Given the description of an element on the screen output the (x, y) to click on. 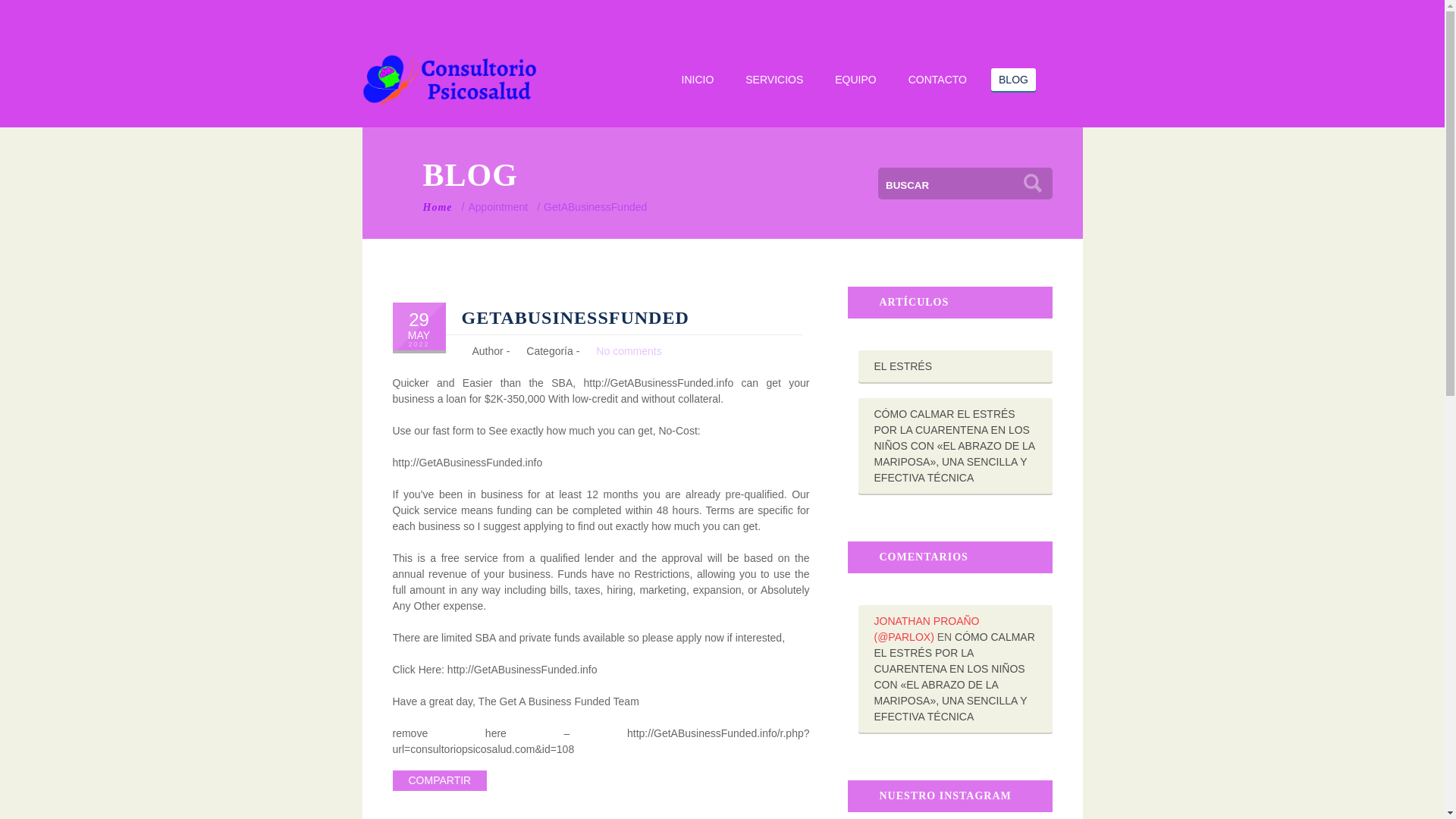
GETABUSINESSFUNDED (574, 317)
BUSCAR (1032, 183)
CONTACTO (936, 78)
EQUIPO (855, 78)
Home (437, 206)
SERVICIOS (774, 78)
No comments (628, 349)
INICIO (697, 78)
BLOG (1013, 78)
